Given the description of an element on the screen output the (x, y) to click on. 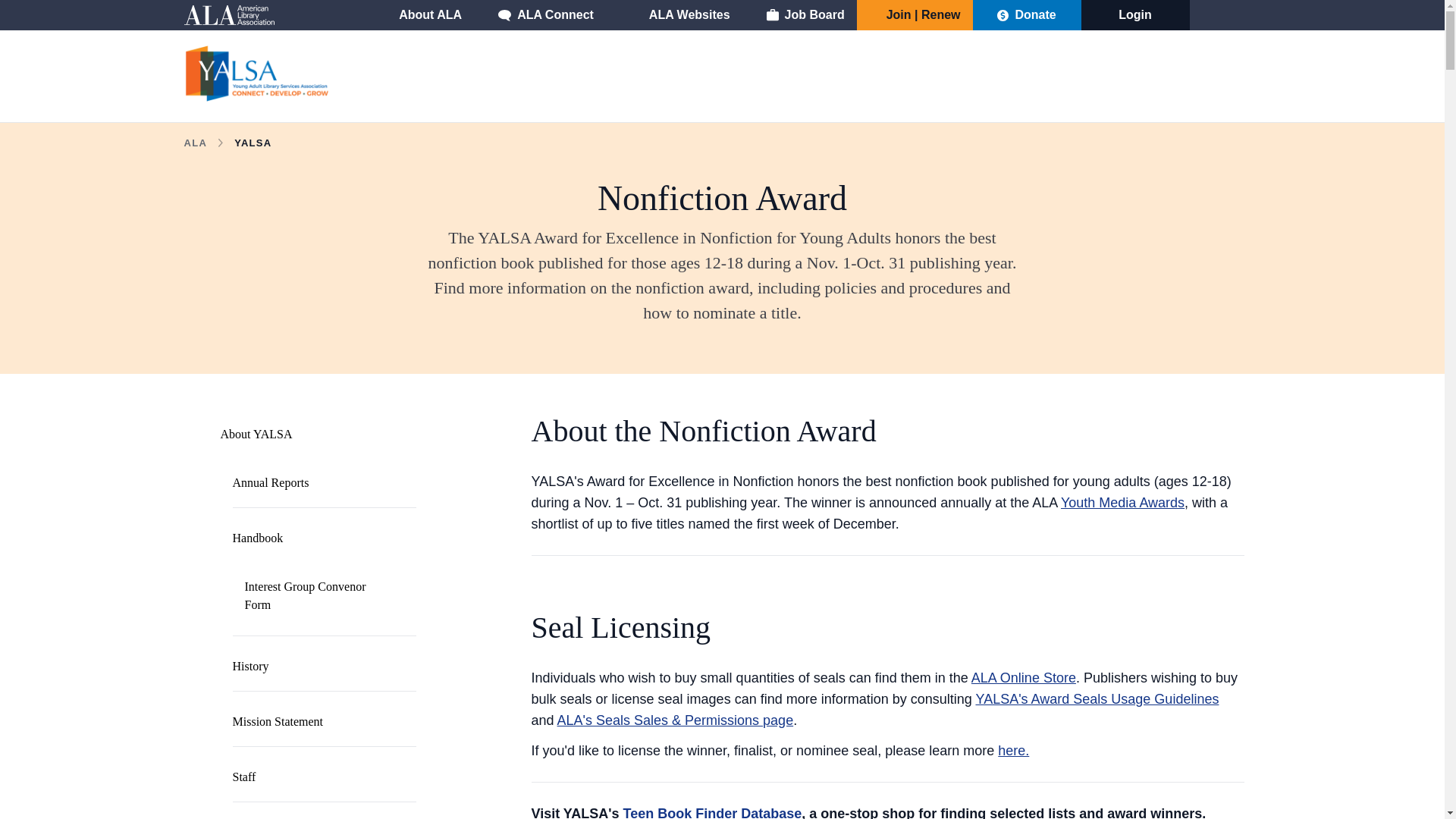
ALA Websites (679, 15)
Job Board (805, 15)
Login (1134, 15)
ALA Websites (679, 15)
ALA Connect (545, 15)
Donate (1026, 15)
Job Board (805, 15)
Donate (1026, 15)
About ALA (420, 15)
